Given the description of an element on the screen output the (x, y) to click on. 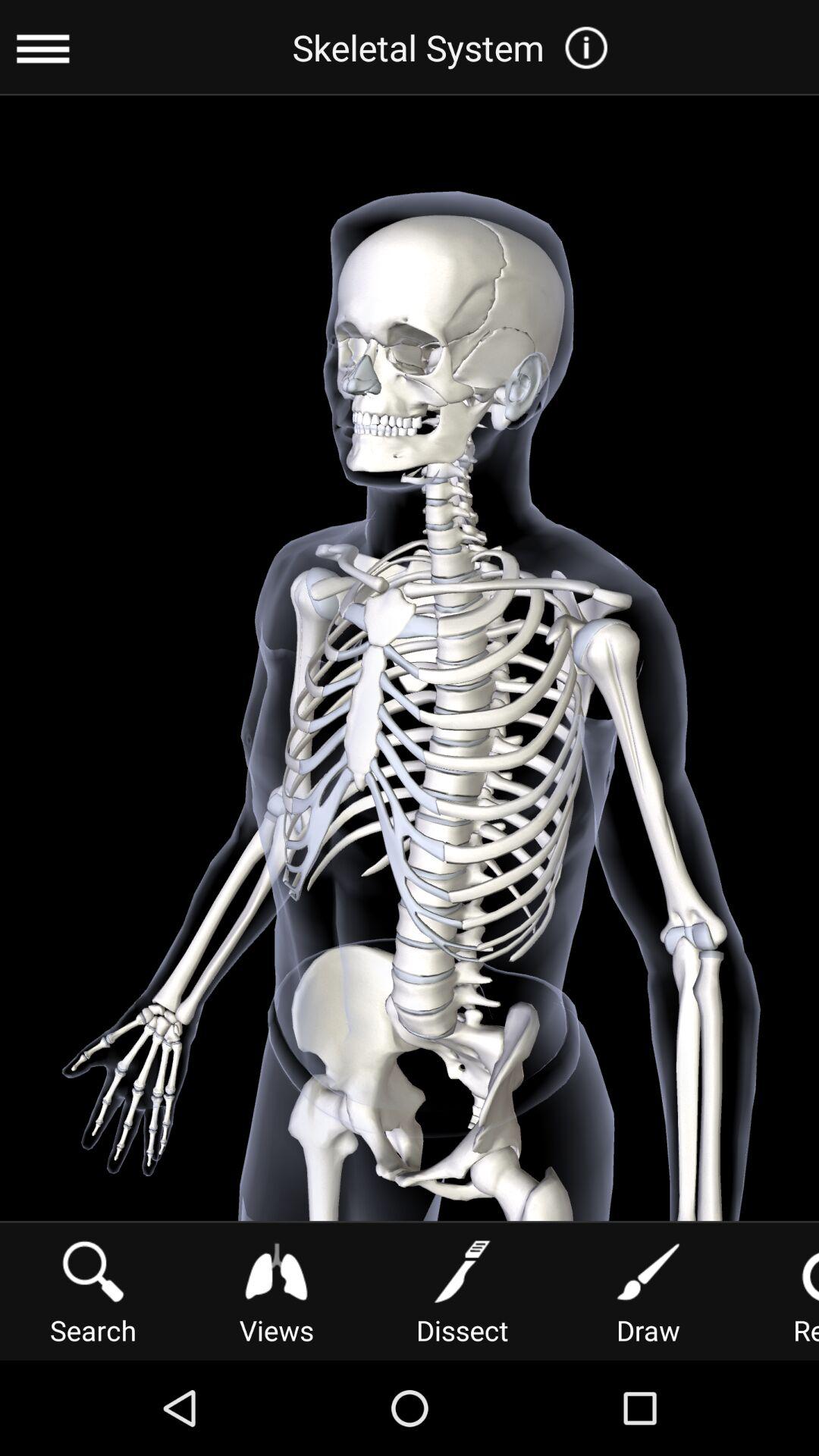
jump to the views button (276, 1290)
